Given the description of an element on the screen output the (x, y) to click on. 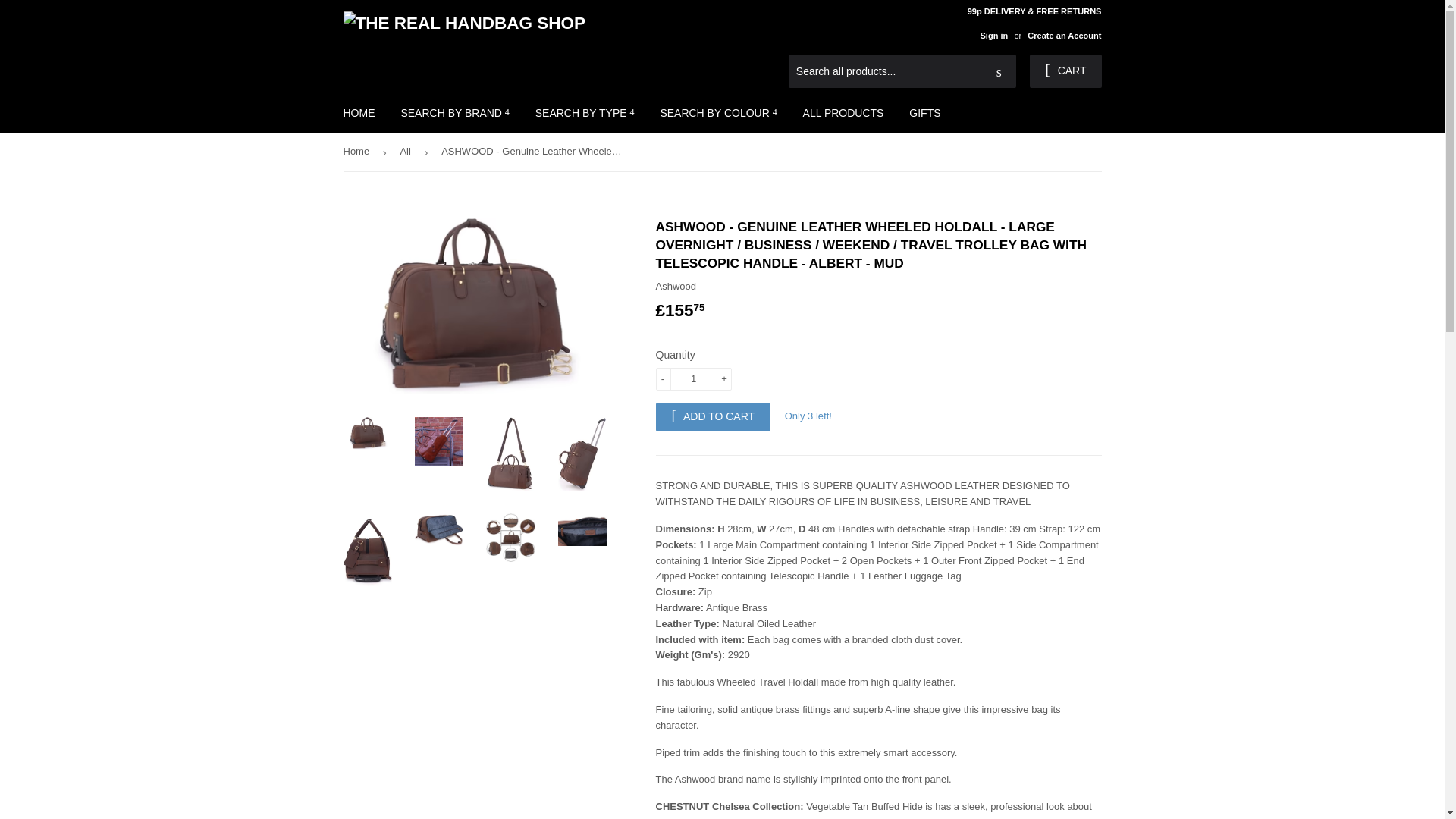
Create an Account (1063, 35)
1 (692, 378)
Search (998, 71)
Sign in (993, 35)
CART (1064, 70)
